Given the description of an element on the screen output the (x, y) to click on. 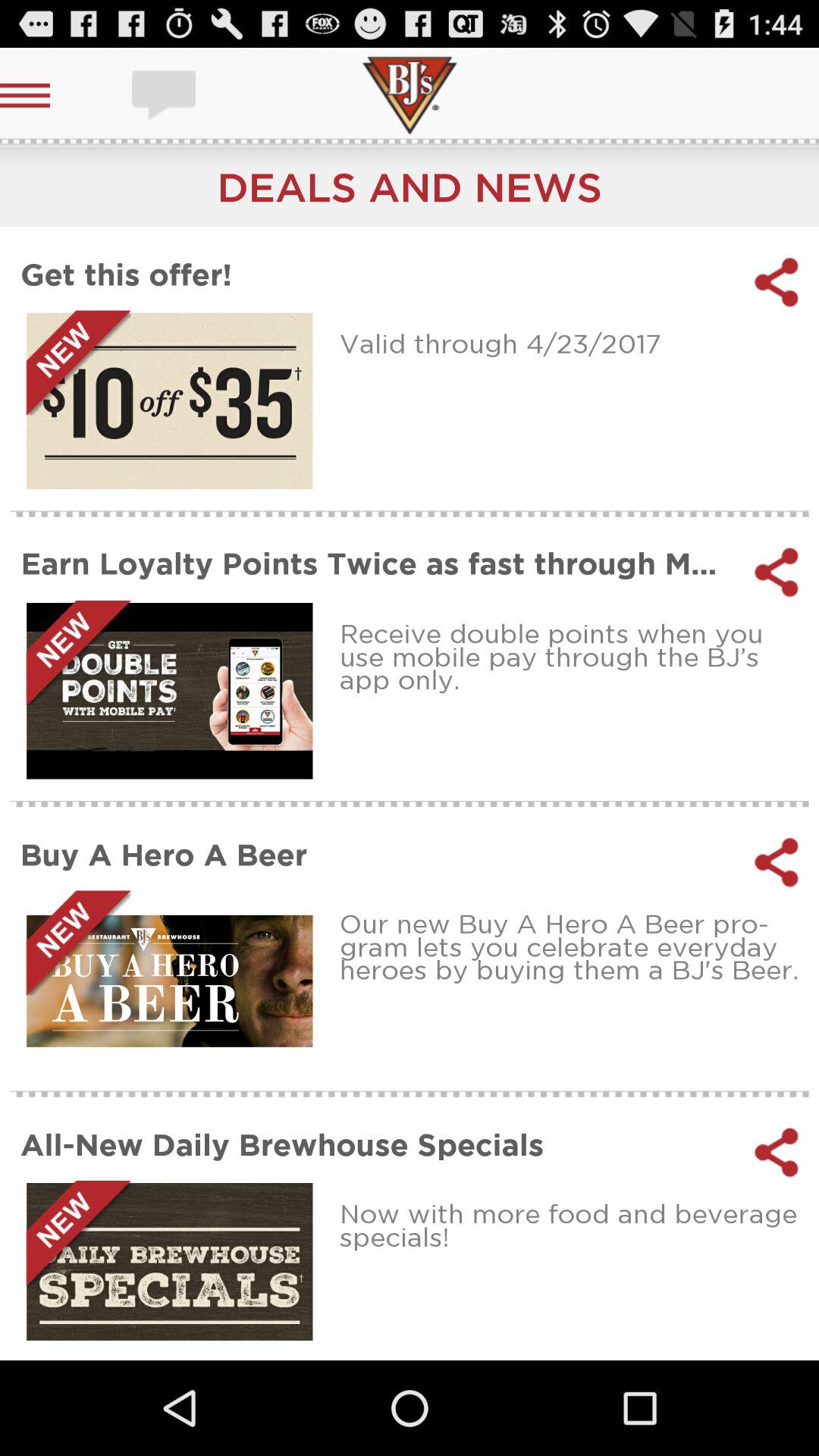
scroll to the all new daily icon (377, 1144)
